Given the description of an element on the screen output the (x, y) to click on. 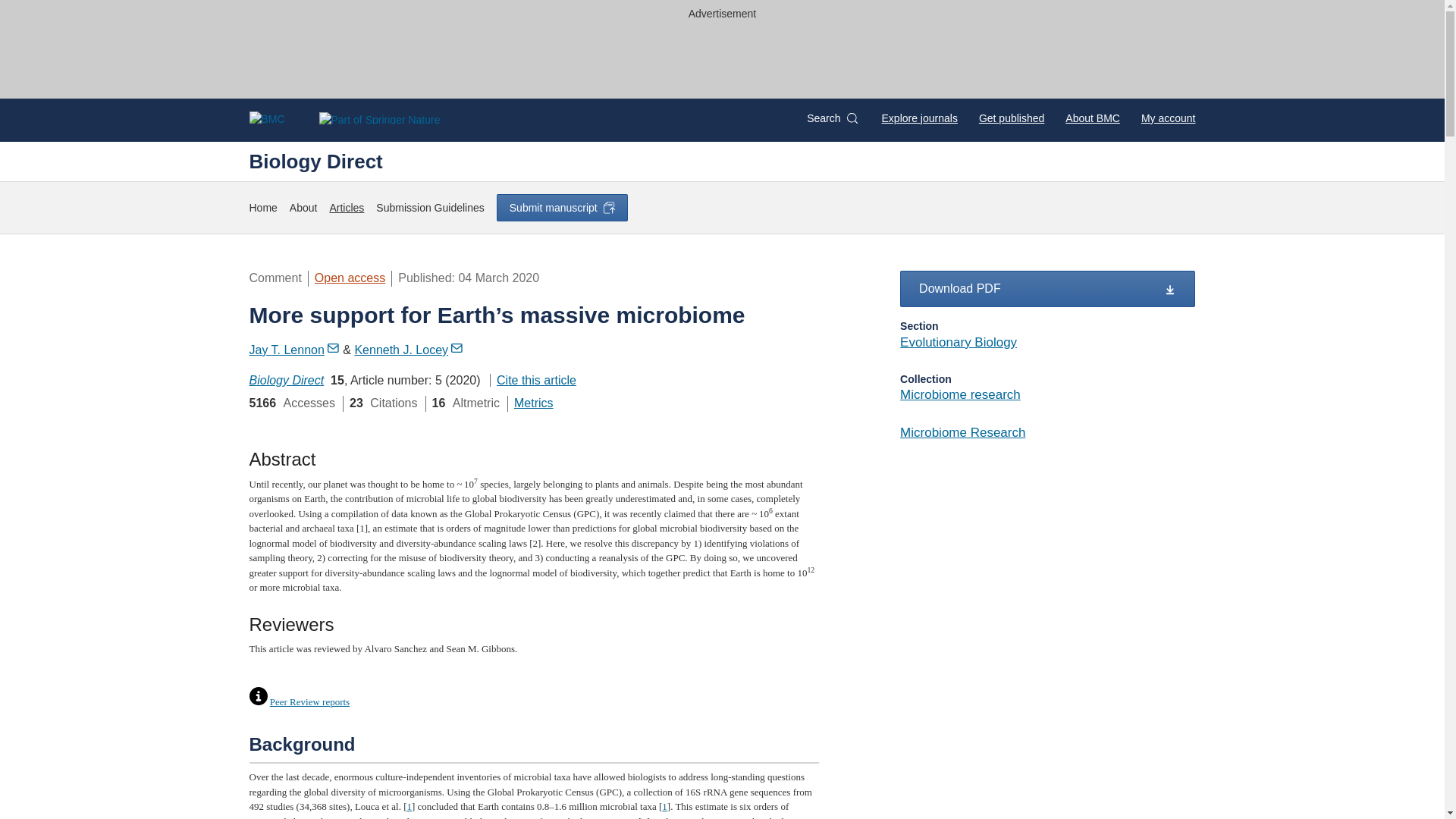
My account (1168, 118)
Peer Review reports (309, 701)
Jay T. Lennon (293, 349)
Articles (346, 208)
Open access (349, 277)
Get published (1010, 118)
About BMC (1092, 118)
Submit manuscript (561, 207)
Metrics (533, 402)
Home (262, 208)
